Given the description of an element on the screen output the (x, y) to click on. 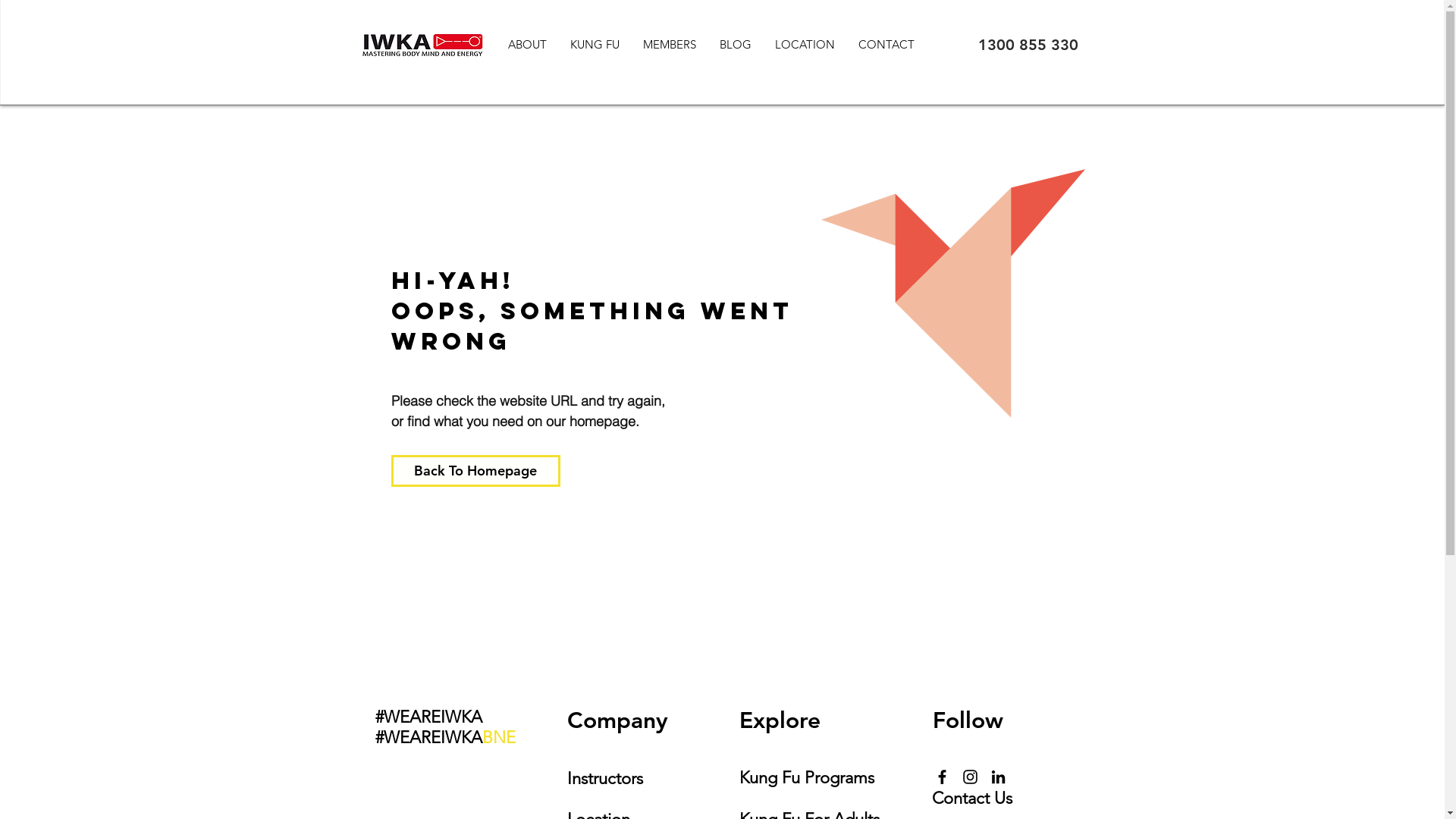
KUNG FU Element type: text (594, 44)
Instructors Element type: text (605, 777)
MEMBERS Element type: text (668, 44)
1300 855 330 Element type: text (1028, 44)
LOCATION Element type: text (804, 44)
Contact Us Element type: text (971, 795)
Kung Fu Programs Element type: text (805, 775)
Back To Homepage Element type: text (475, 470)
CONTACT Element type: text (885, 44)
BLOG Element type: text (734, 44)
